Given the description of an element on the screen output the (x, y) to click on. 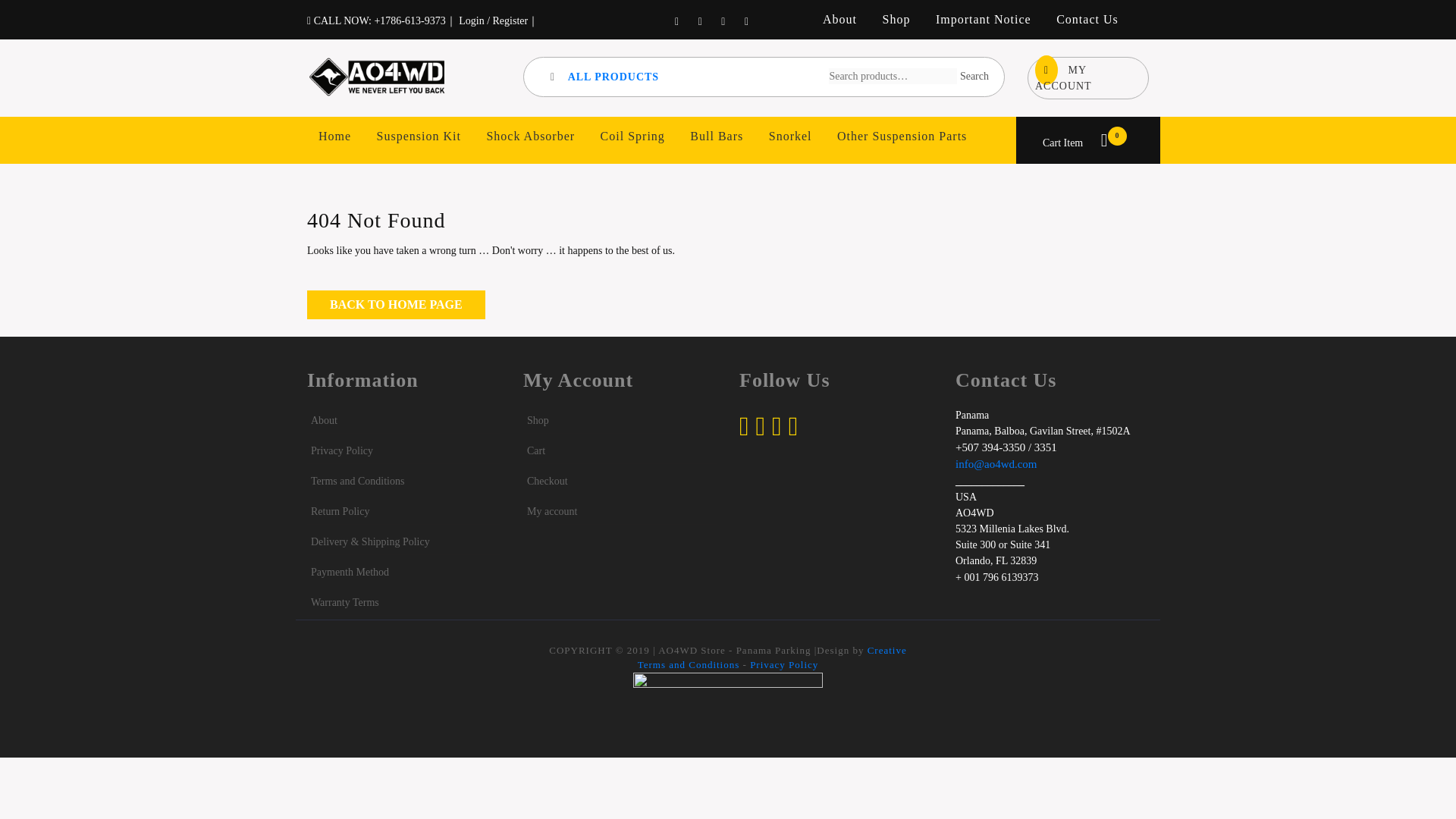
Other Suspension Parts (901, 136)
Privacy Policy (341, 450)
Terms and Conditions (357, 480)
Search (973, 75)
Suspension Kit (1075, 142)
Coil Spring (419, 136)
Paymenth Method (632, 136)
Contact Us (349, 572)
Warranty Terms (1087, 19)
